Given the description of an element on the screen output the (x, y) to click on. 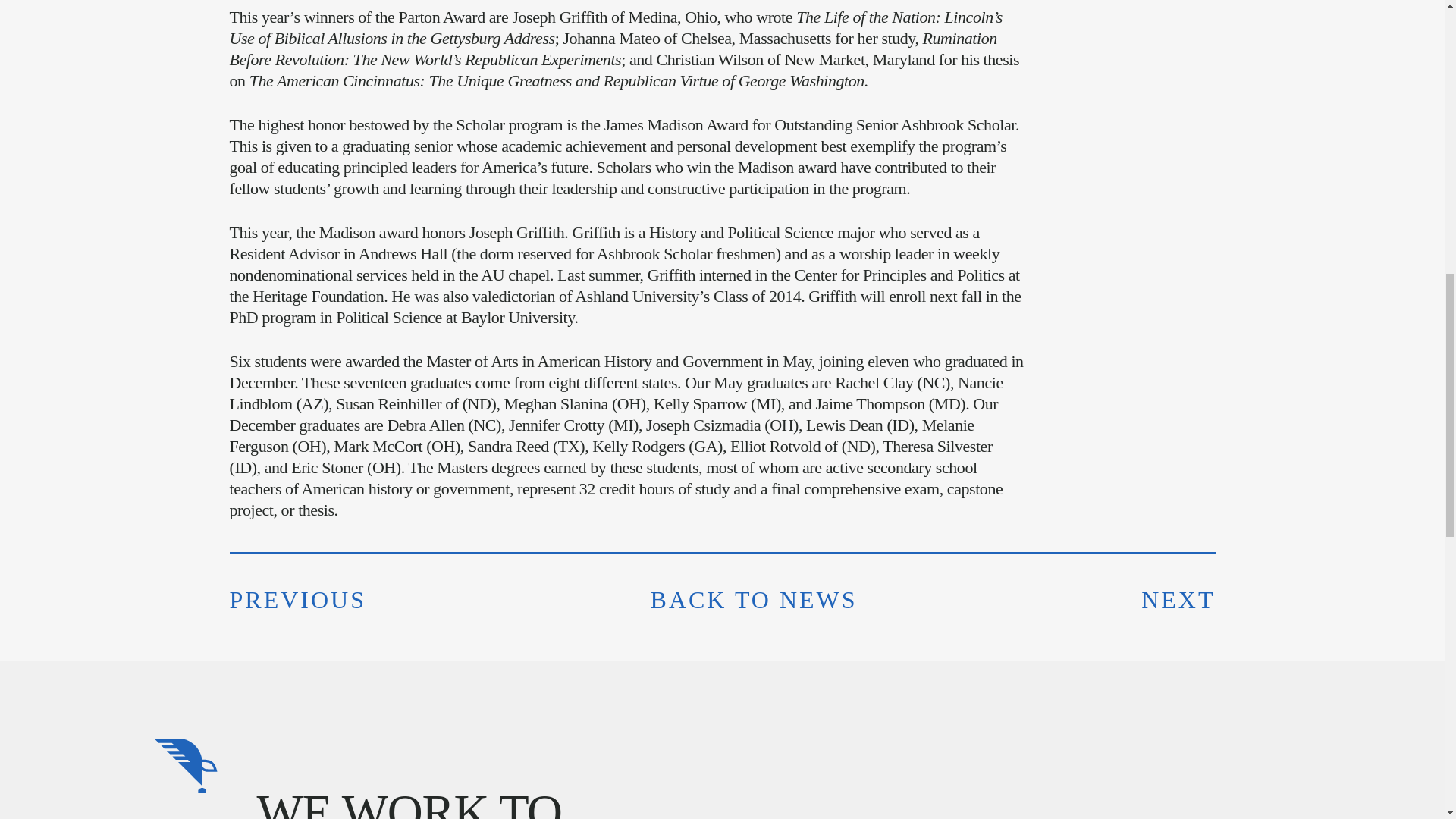
NEXT (1177, 599)
PREVIOUS (296, 599)
BACK TO NEWS (753, 599)
